Given the description of an element on the screen output the (x, y) to click on. 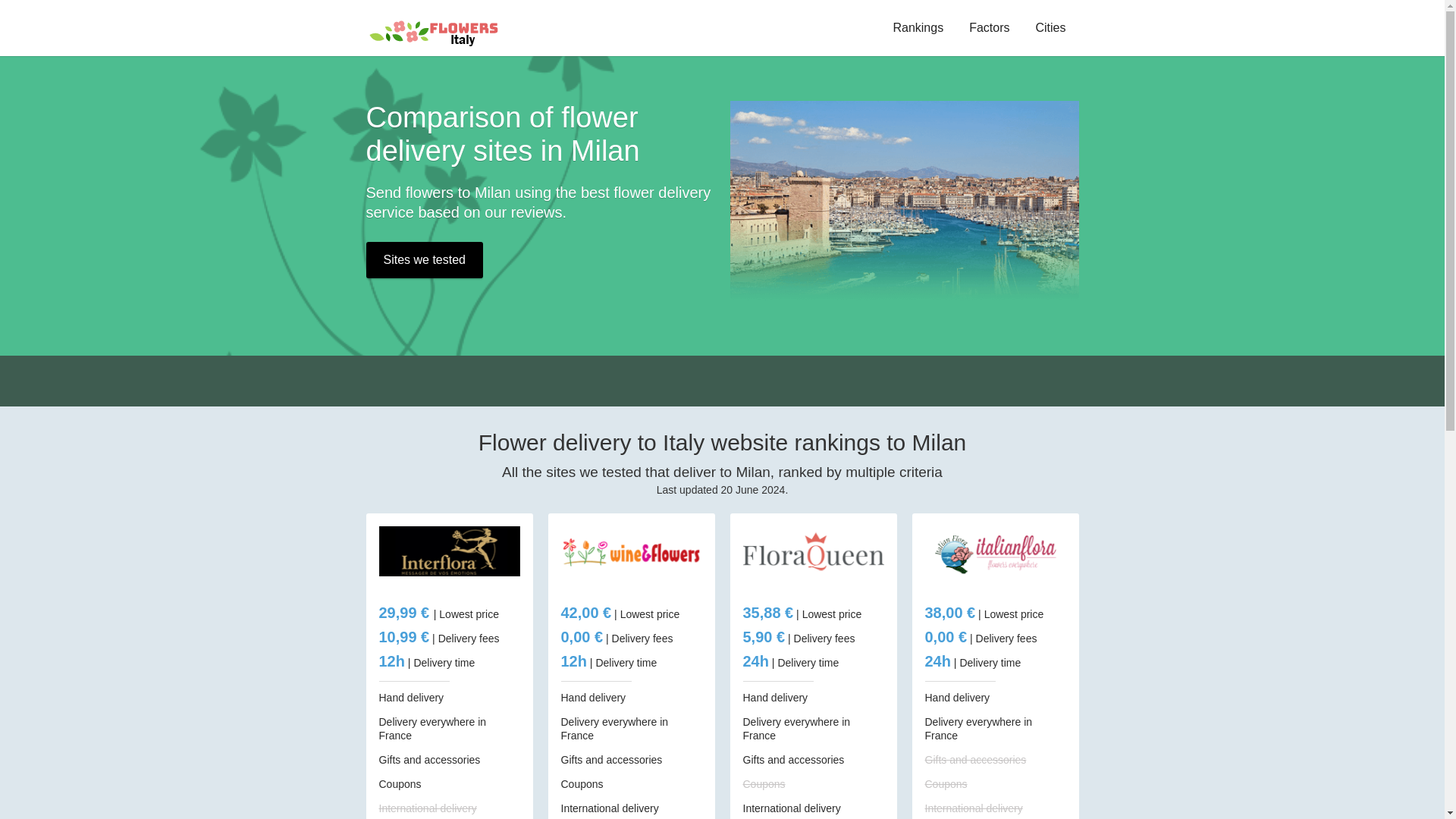
Cities (1050, 28)
Rankings (917, 28)
Sites we tested (424, 259)
Factors (989, 28)
